Given the description of an element on the screen output the (x, y) to click on. 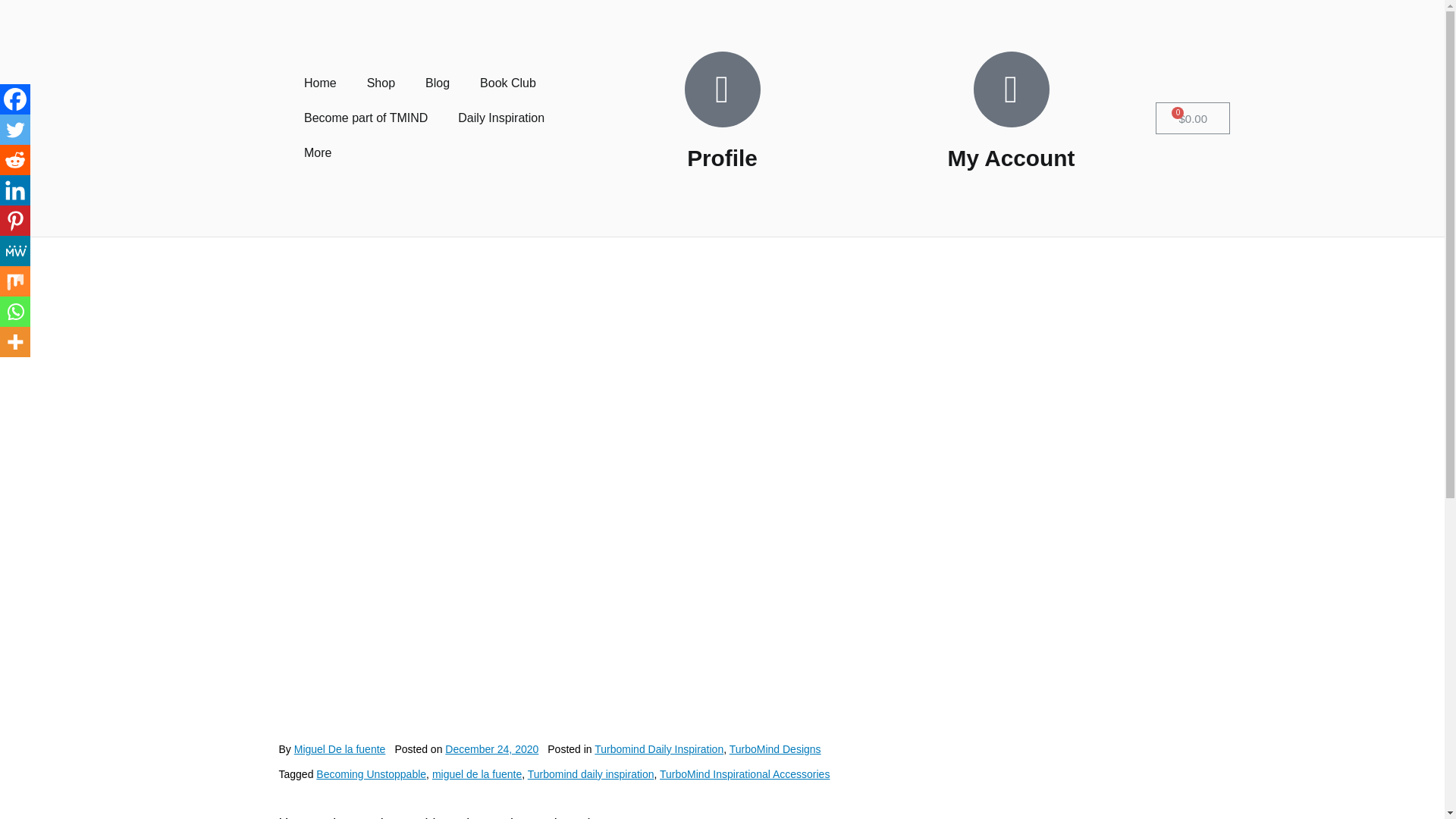
Become part of TMIND (365, 117)
Home (320, 83)
More (317, 152)
Facebook (15, 99)
Reddit (15, 159)
Linkedin (15, 190)
Daily Inspiration (500, 117)
Book Club (507, 83)
Shop (381, 83)
Twitter (15, 129)
